Given the description of an element on the screen output the (x, y) to click on. 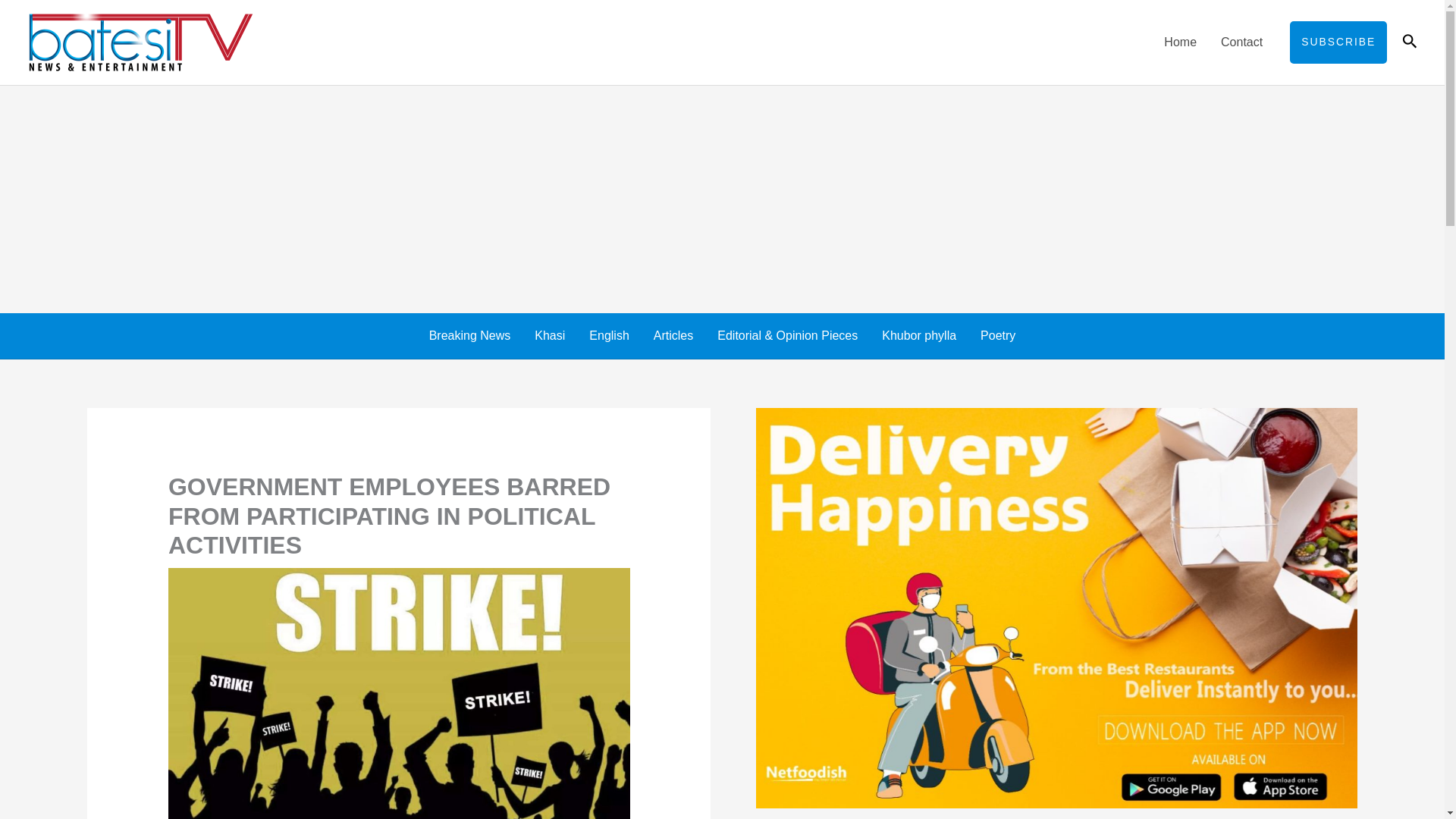
Breaking News (469, 335)
Poetry (997, 335)
English (608, 335)
SUBSCRIBE (1338, 42)
Khasi (549, 335)
Khubor phylla (918, 335)
Articles (673, 335)
